Given the description of an element on the screen output the (x, y) to click on. 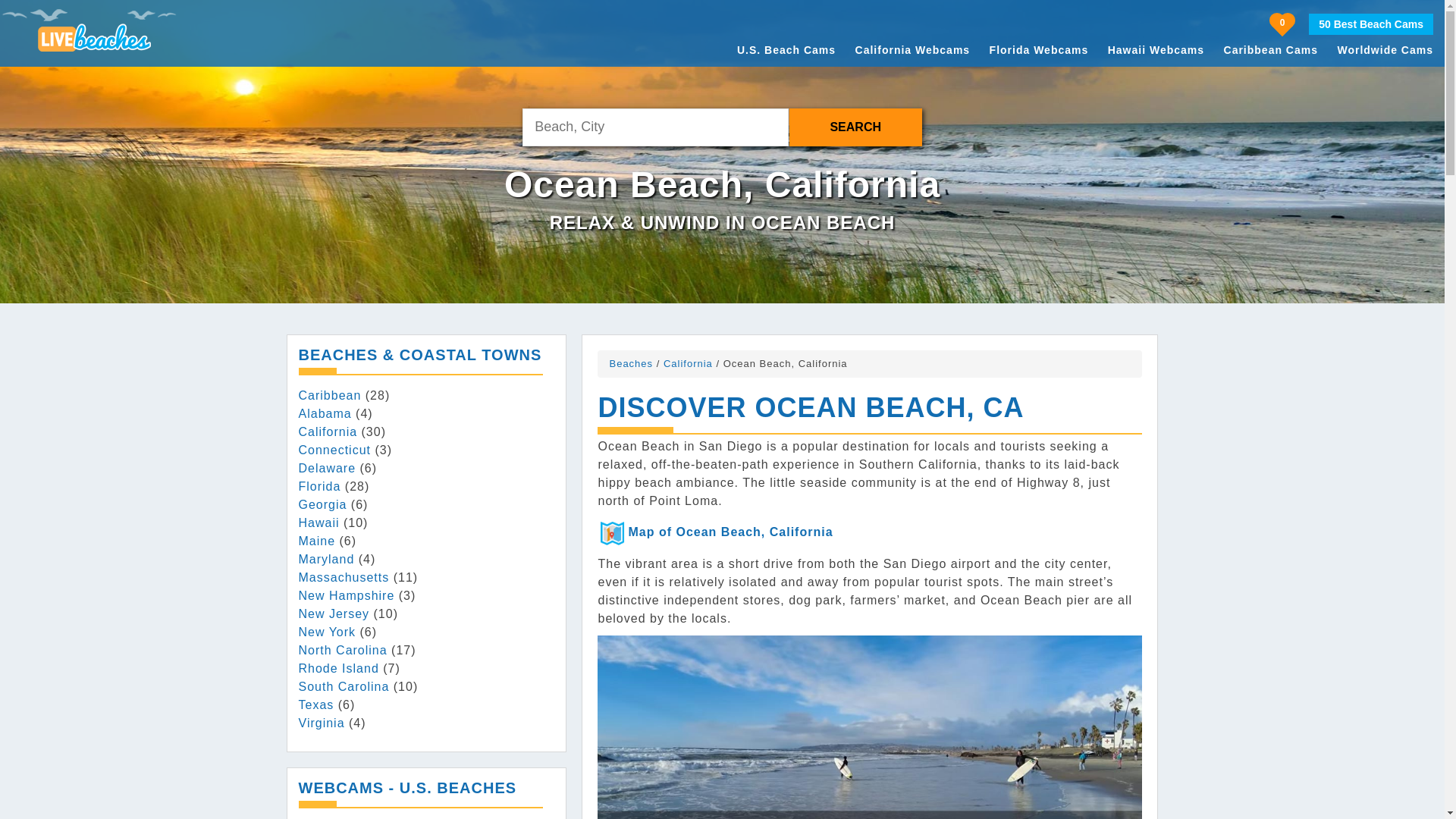
50 Best Beach Cams (1370, 24)
Connecticut (334, 449)
New Hampshire (346, 594)
Search (855, 127)
Search for: (655, 127)
Delaware (327, 468)
Search (855, 127)
U.S. Beach Cams (785, 50)
Alabama (325, 413)
Florida (319, 486)
Caribbean (329, 395)
Hawaii (318, 522)
Massachusetts (344, 576)
California (328, 431)
California Webcams (913, 50)
